Given the description of an element on the screen output the (x, y) to click on. 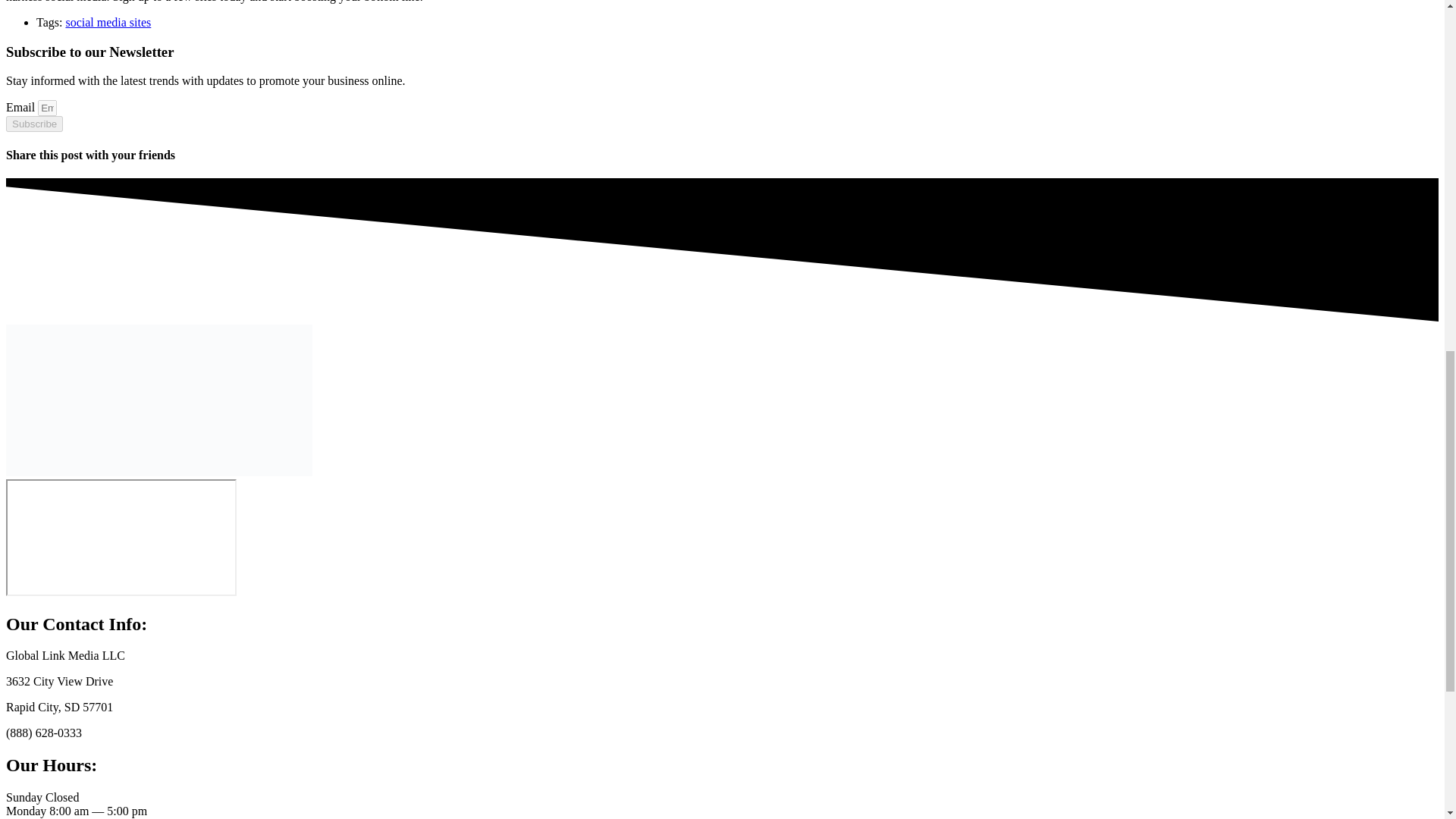
social media sites (108, 21)
Subscribe (33, 123)
GLOBAL LINK MEDIA (120, 537)
